Given the description of an element on the screen output the (x, y) to click on. 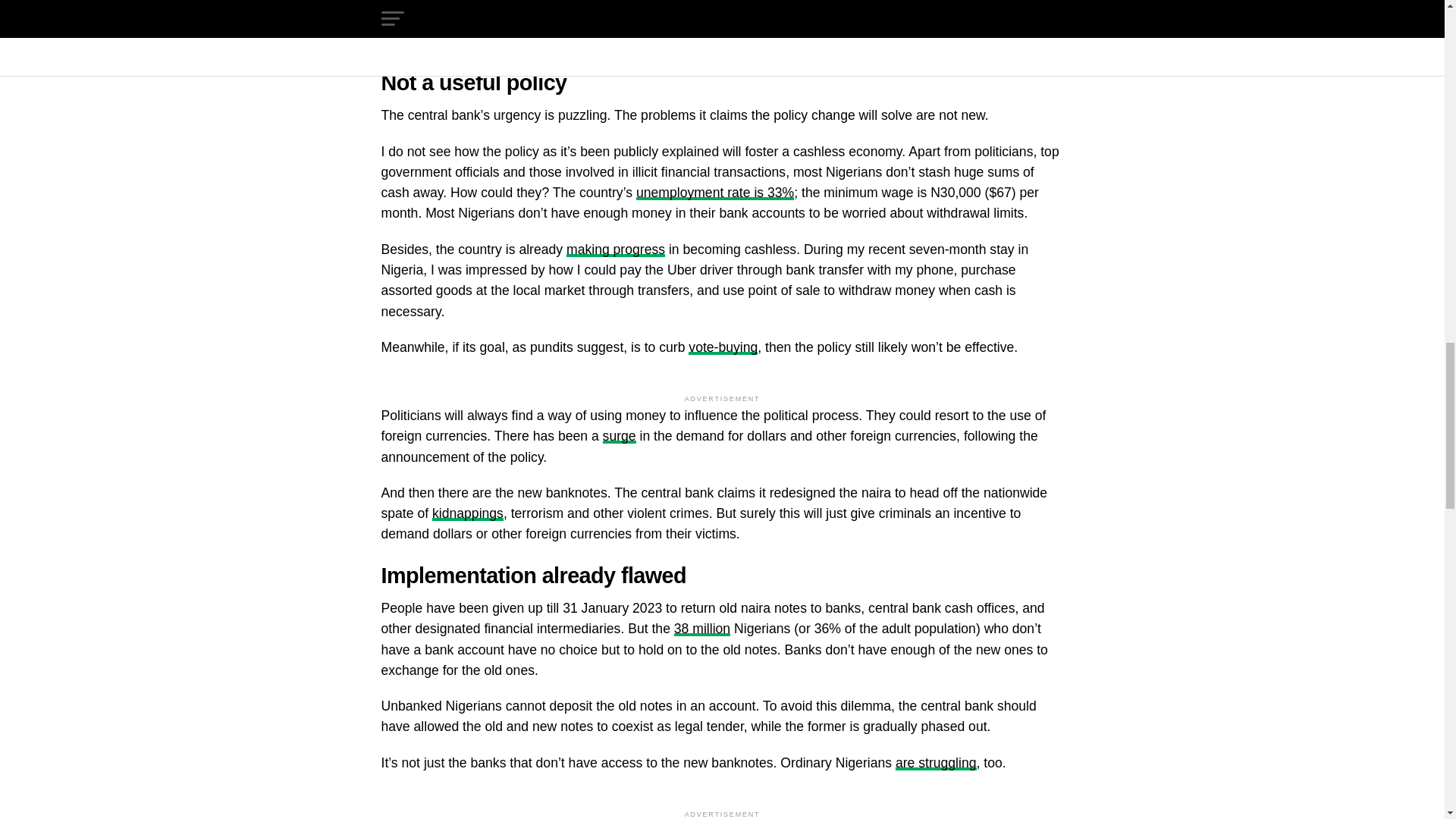
making progress (615, 249)
vote-buying (483, 20)
are struggling (935, 762)
surge (619, 435)
believe (485, 3)
kidnappings (467, 513)
38 million (702, 628)
vote-buying (722, 346)
